Given the description of an element on the screen output the (x, y) to click on. 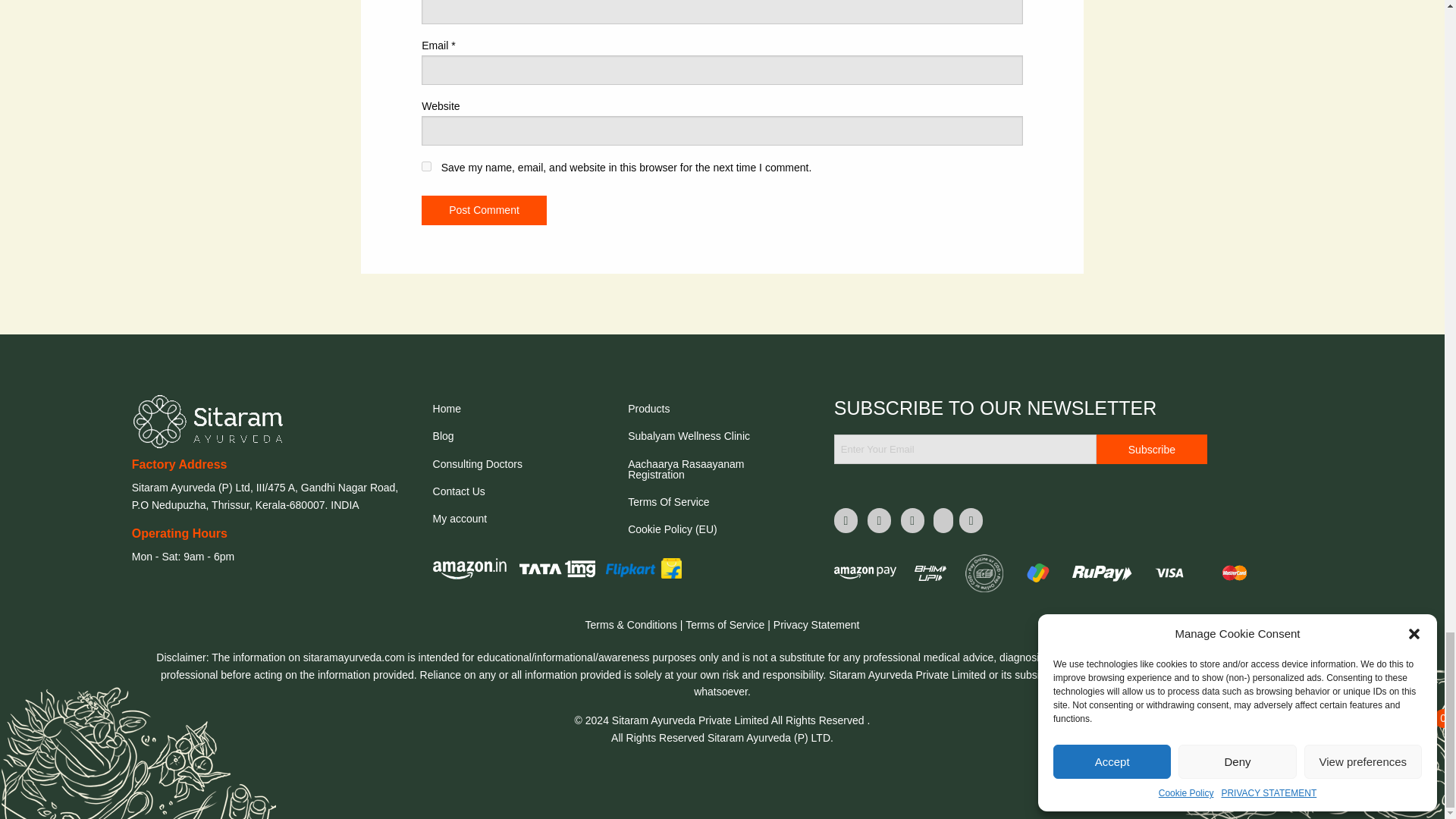
Subscribe (1151, 449)
Post Comment (484, 209)
yes (426, 166)
